Given the description of an element on the screen output the (x, y) to click on. 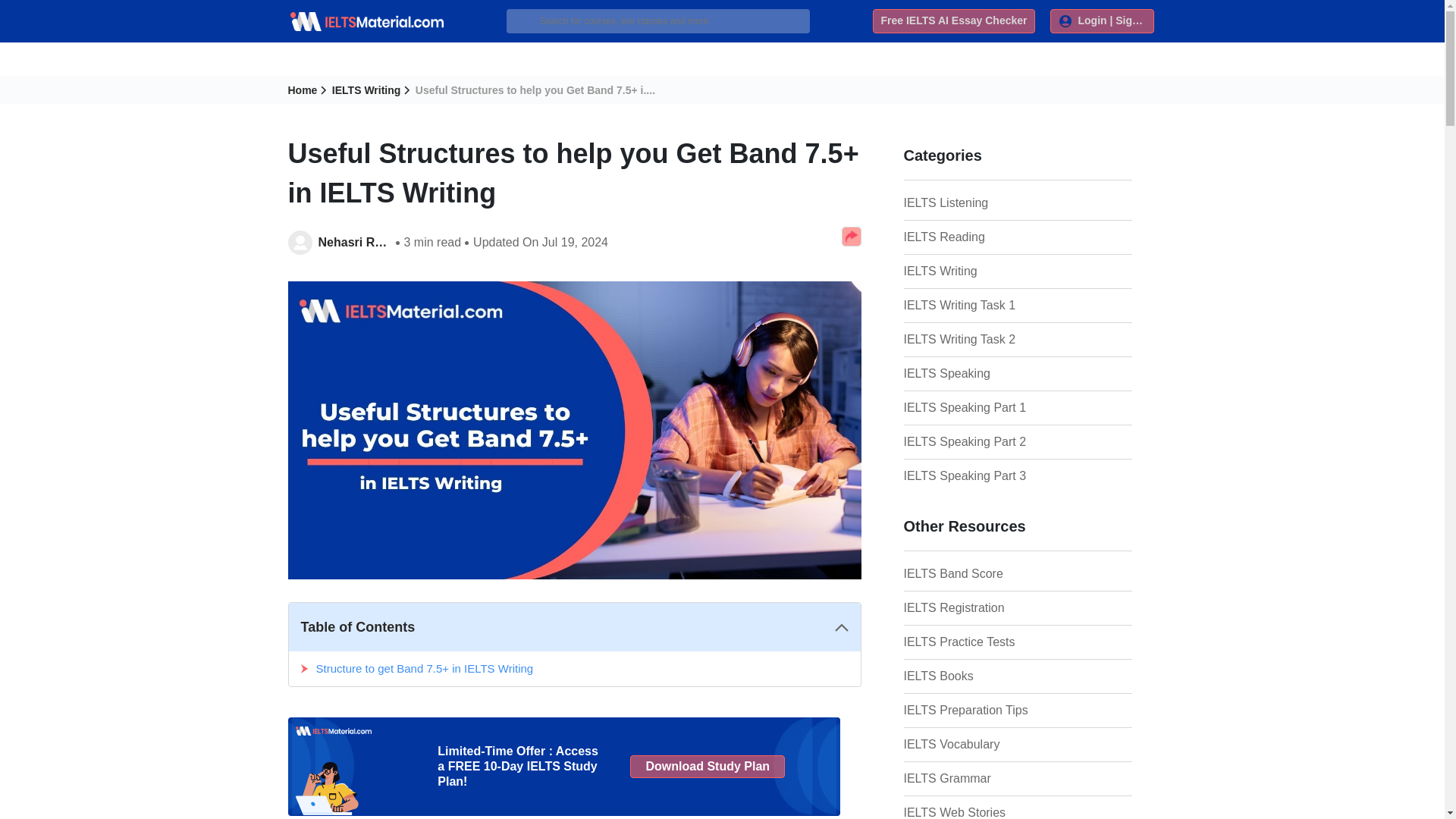
IELTS Reading (979, 237)
IELTS Vocabulary (979, 744)
IELTS Speaking (979, 373)
IELTS Speaking Part 1 (979, 407)
IELTS Speaking Part 3 (979, 475)
IELTS Writing Task 1 (979, 305)
IELTS Band Score (979, 574)
IELTS Books (979, 676)
IELTS Registration (979, 607)
Nehasri Ravishenbagam (353, 242)
